Given the description of an element on the screen output the (x, y) to click on. 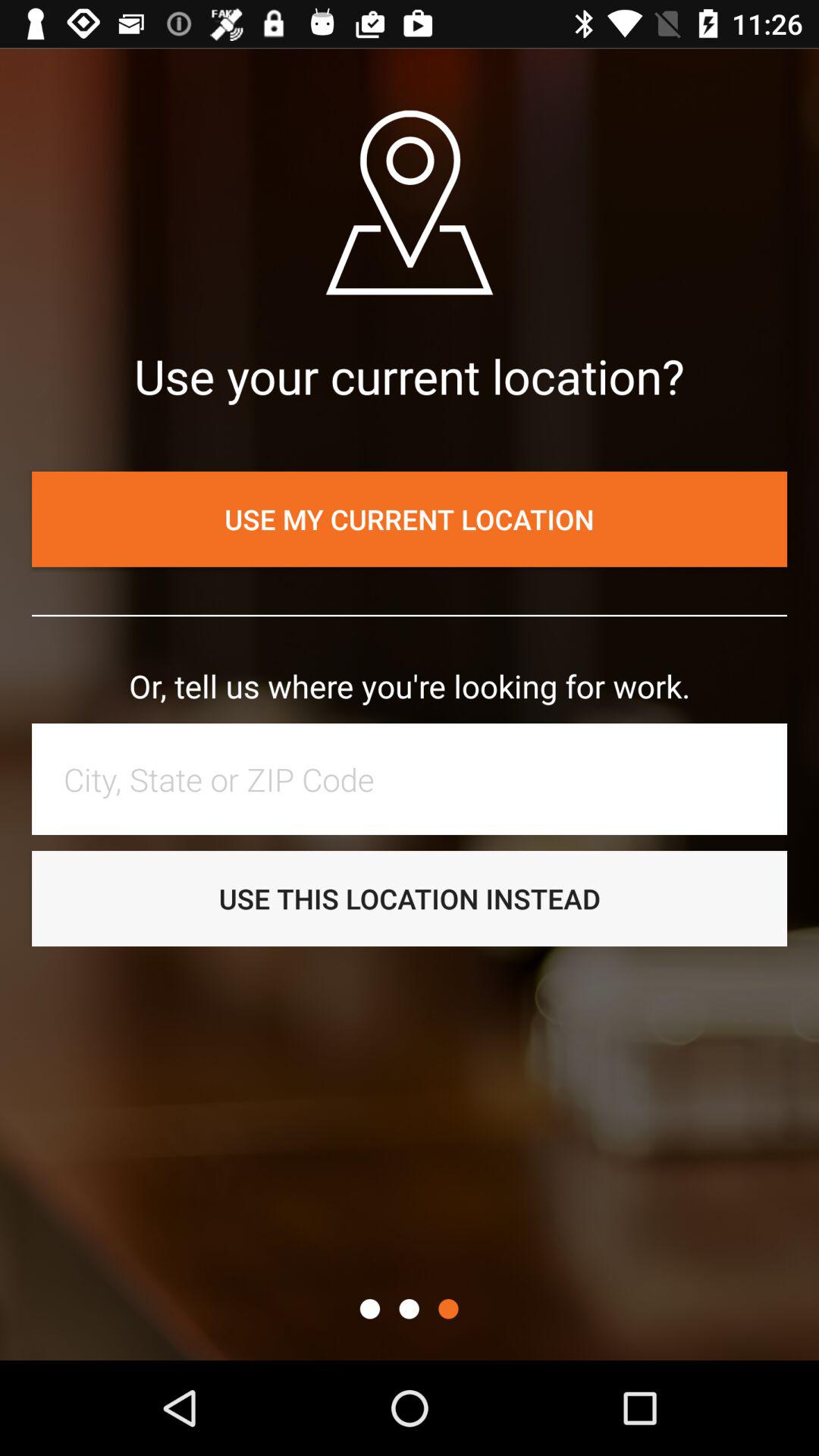
go to the next page (448, 1308)
